Given the description of an element on the screen output the (x, y) to click on. 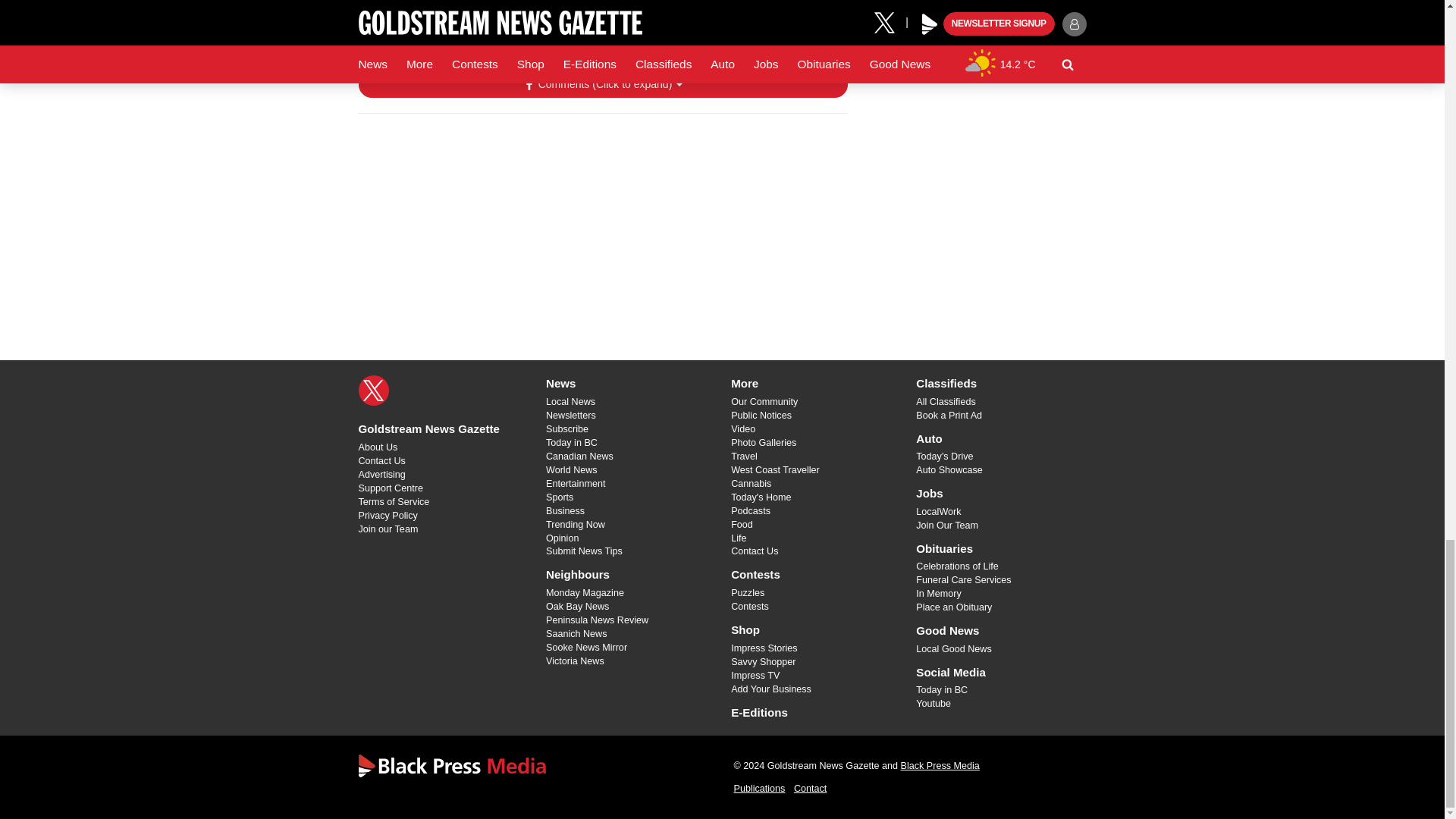
3rd party ad content (602, 223)
Show Comments (602, 84)
X (373, 390)
3rd party ad content (972, 32)
